Given the description of an element on the screen output the (x, y) to click on. 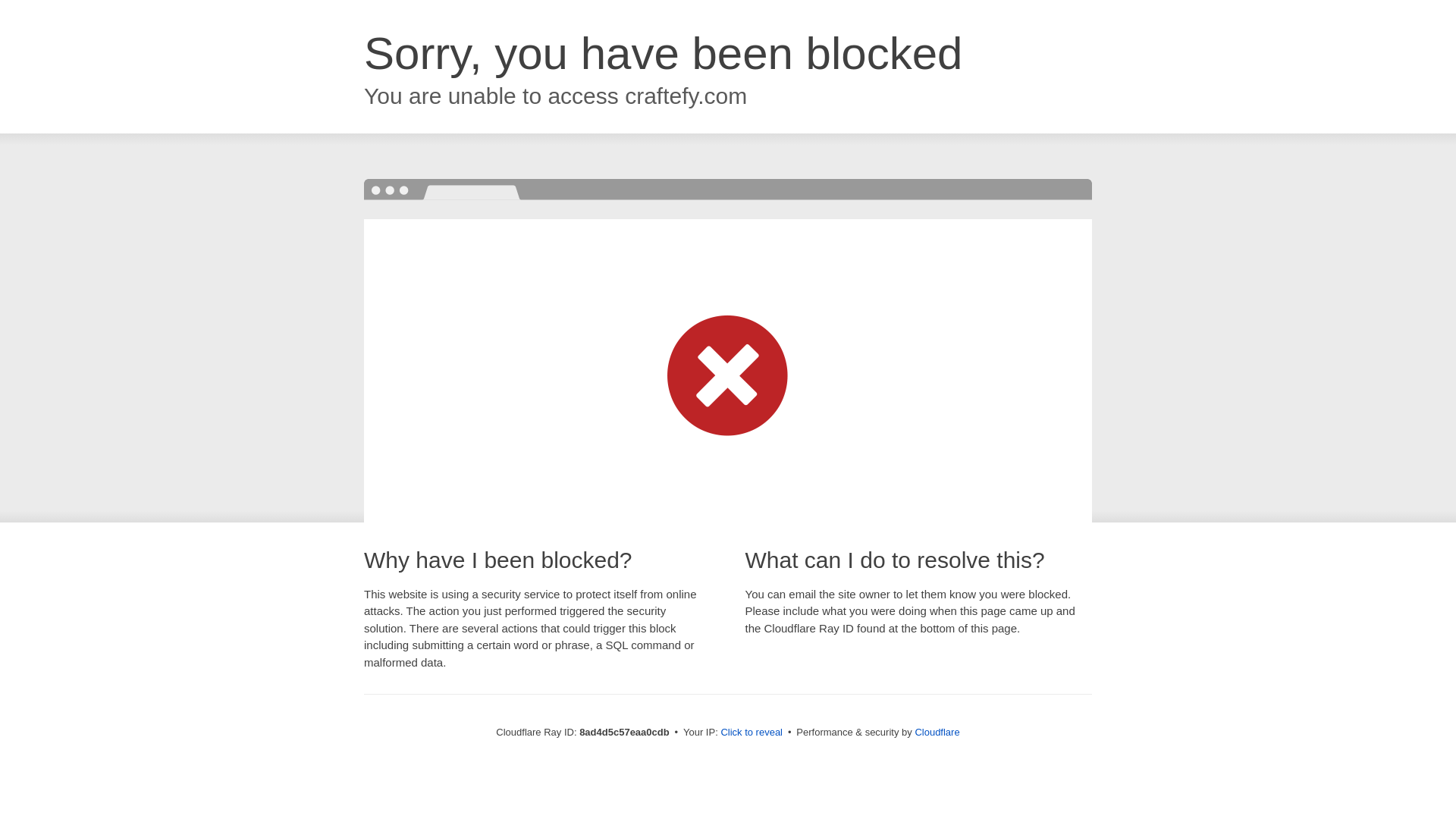
Cloudflare (936, 731)
Click to reveal (751, 732)
